Given the description of an element on the screen output the (x, y) to click on. 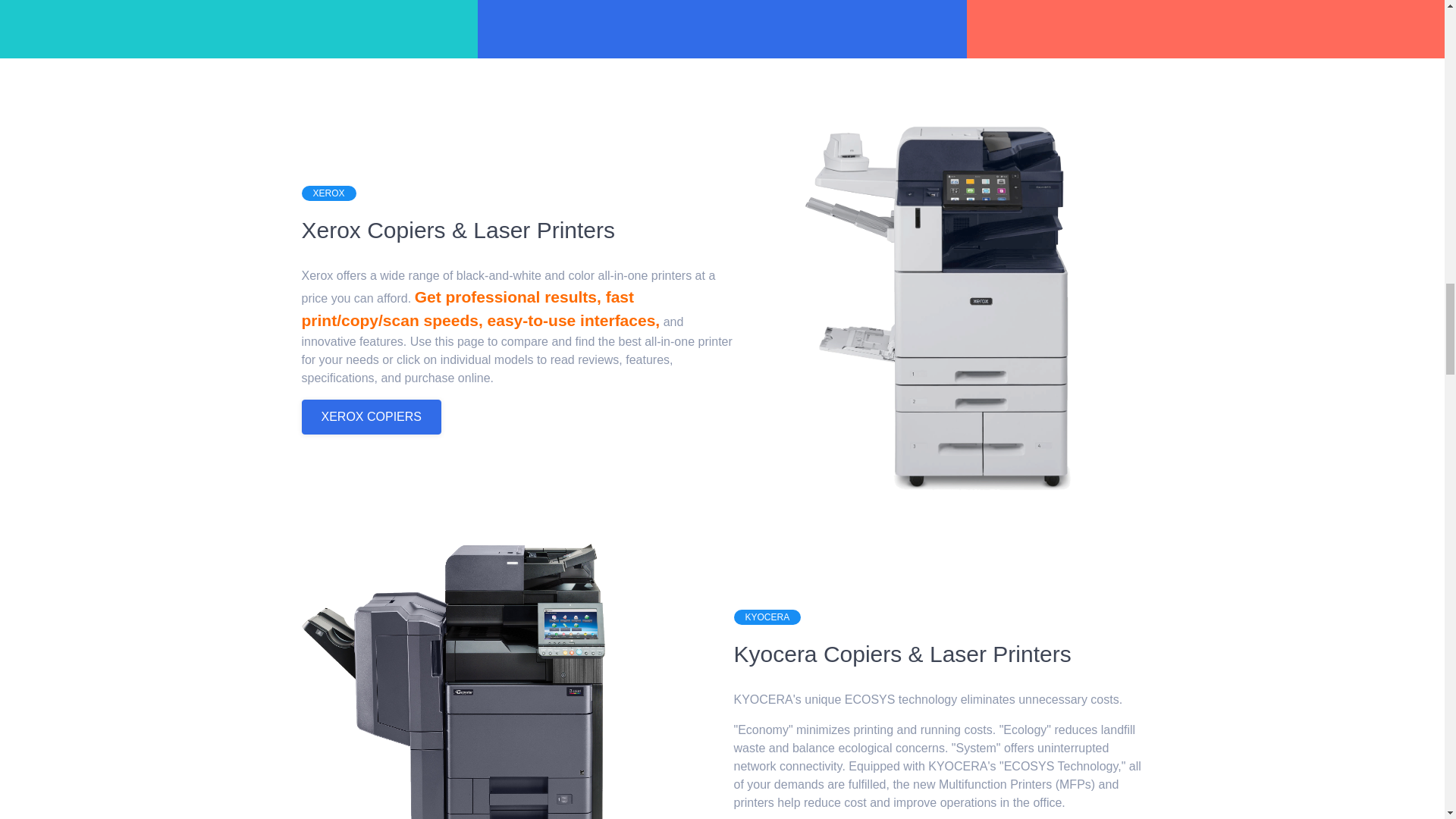
XEROX COPIERS (371, 416)
